Given the description of an element on the screen output the (x, y) to click on. 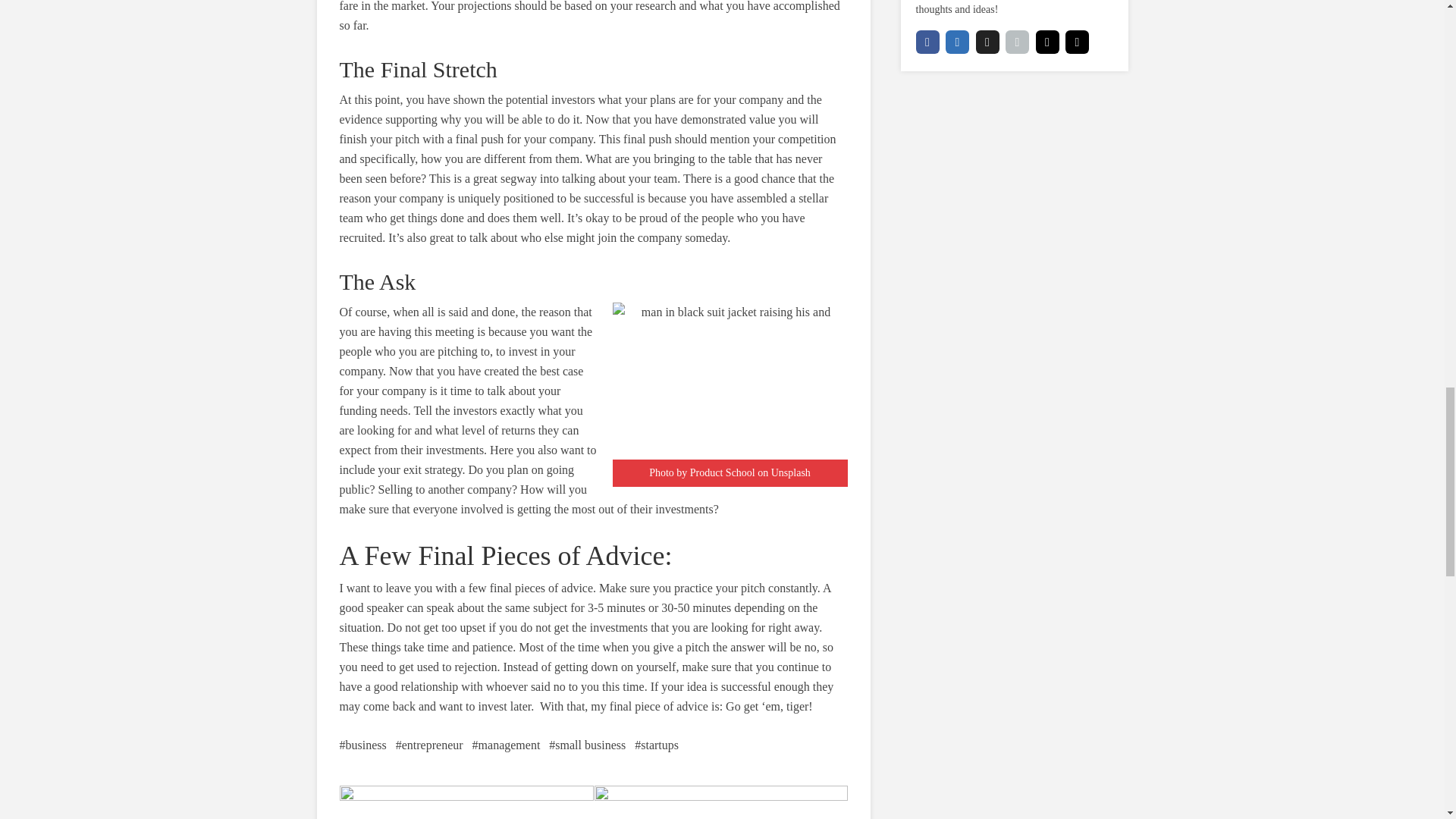
small business (587, 745)
Behance (1077, 42)
Facebook (927, 42)
Linkedin (956, 42)
entrepreneur (429, 745)
funding needs (373, 410)
business (363, 745)
Apple (1017, 42)
exactly what you are looking for (461, 420)
startups (656, 745)
management (505, 745)
Instagram (720, 802)
